Given the description of an element on the screen output the (x, y) to click on. 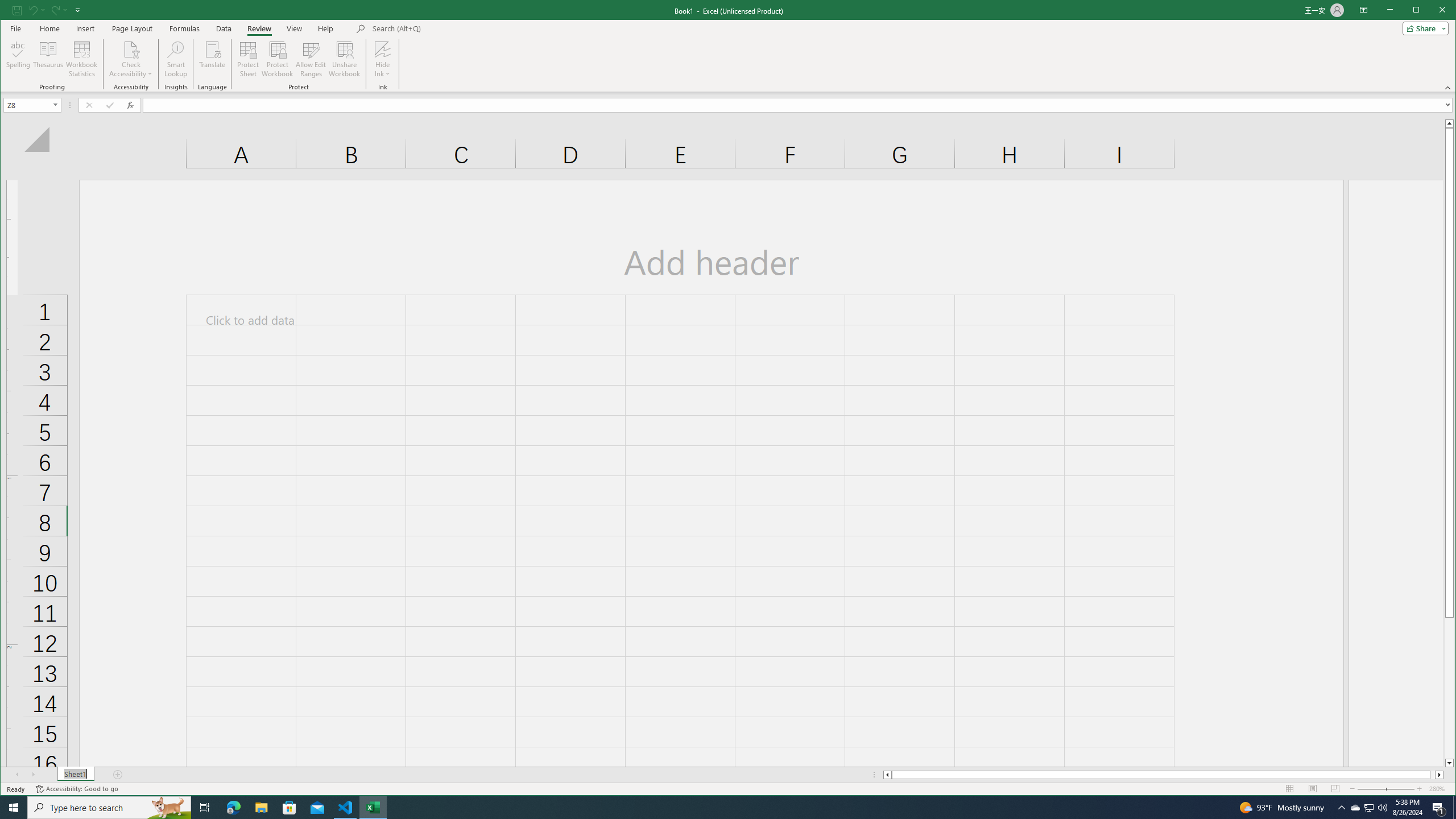
Hide Ink (382, 59)
Translate (212, 59)
Task View (204, 807)
Protect Workbook... (277, 59)
